Given the description of an element on the screen output the (x, y) to click on. 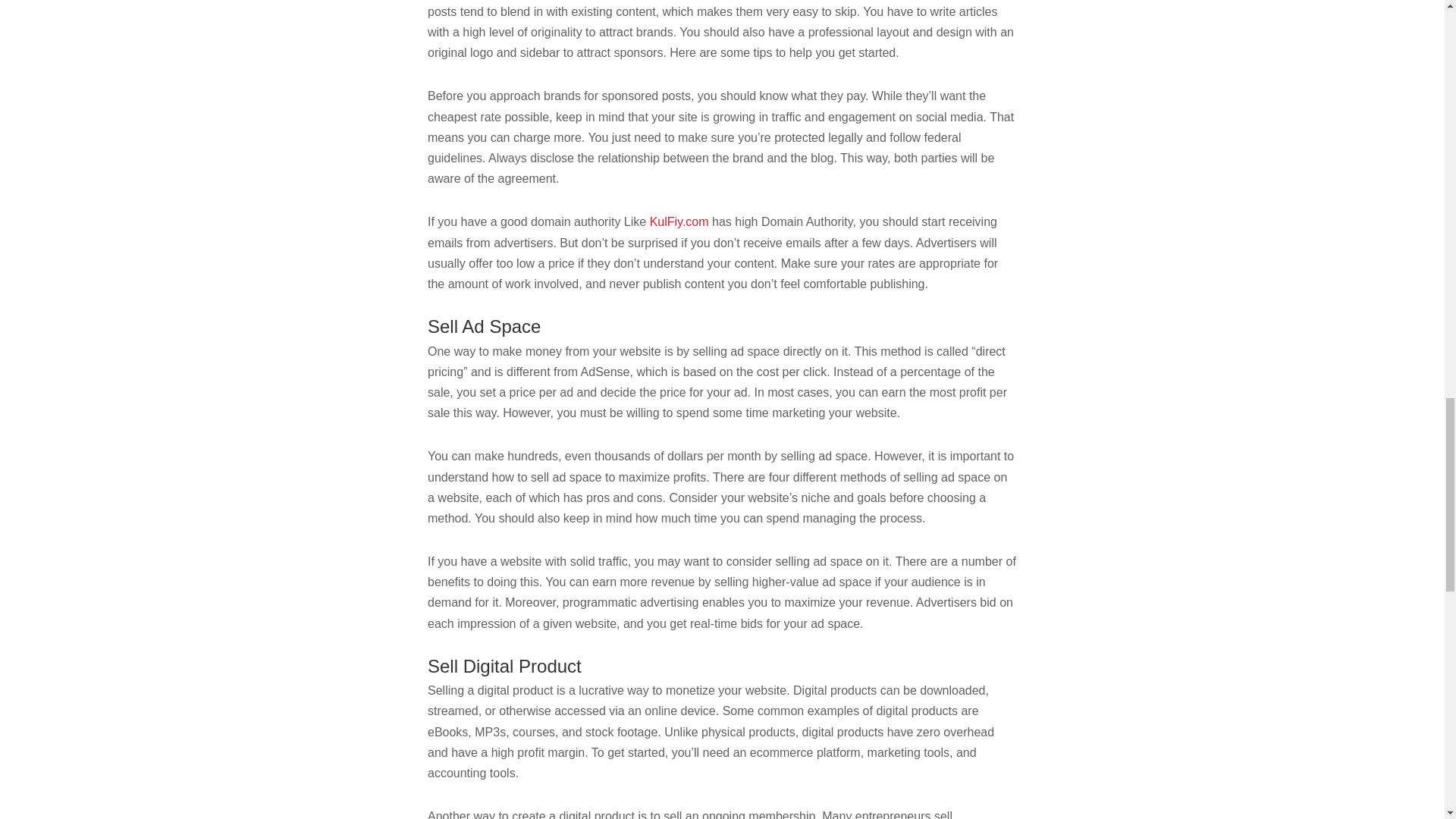
KulFiy.com (679, 221)
